Given the description of an element on the screen output the (x, y) to click on. 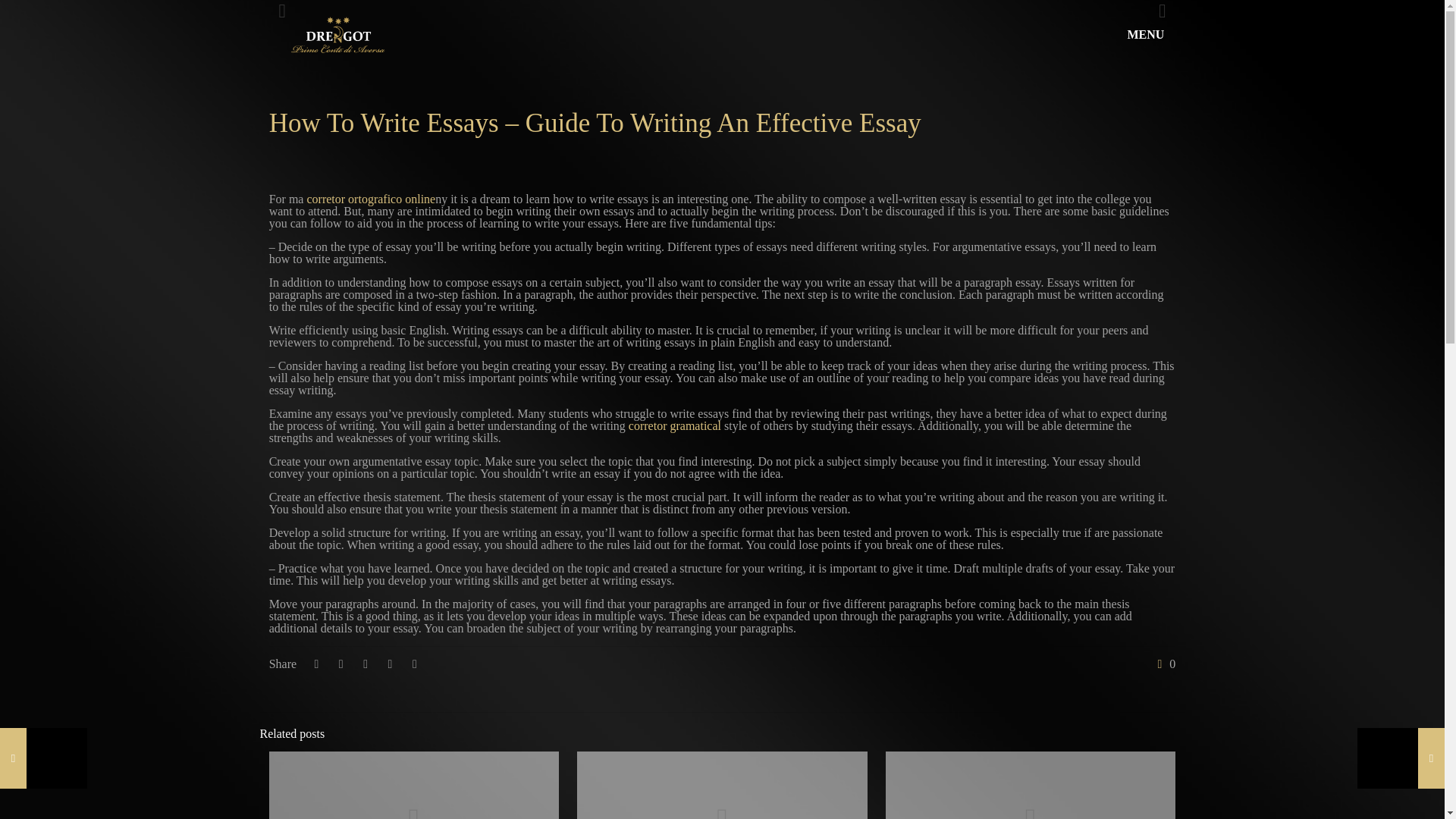
MENU (1154, 34)
corretor ortografico online (370, 198)
corretor gramatical (674, 425)
0 (1162, 664)
Drengot (336, 34)
